Given the description of an element on the screen output the (x, y) to click on. 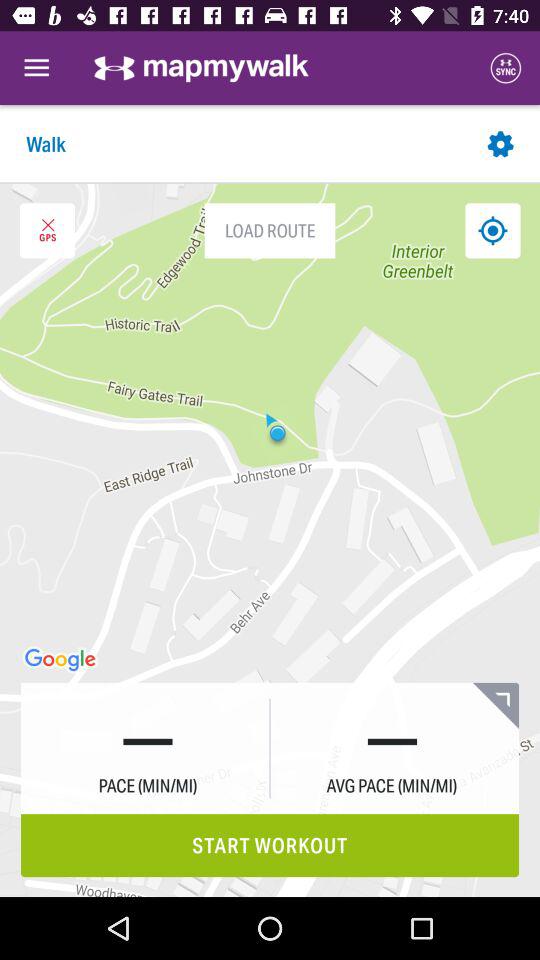
launch the icon next to the load route item (47, 230)
